Given the description of an element on the screen output the (x, y) to click on. 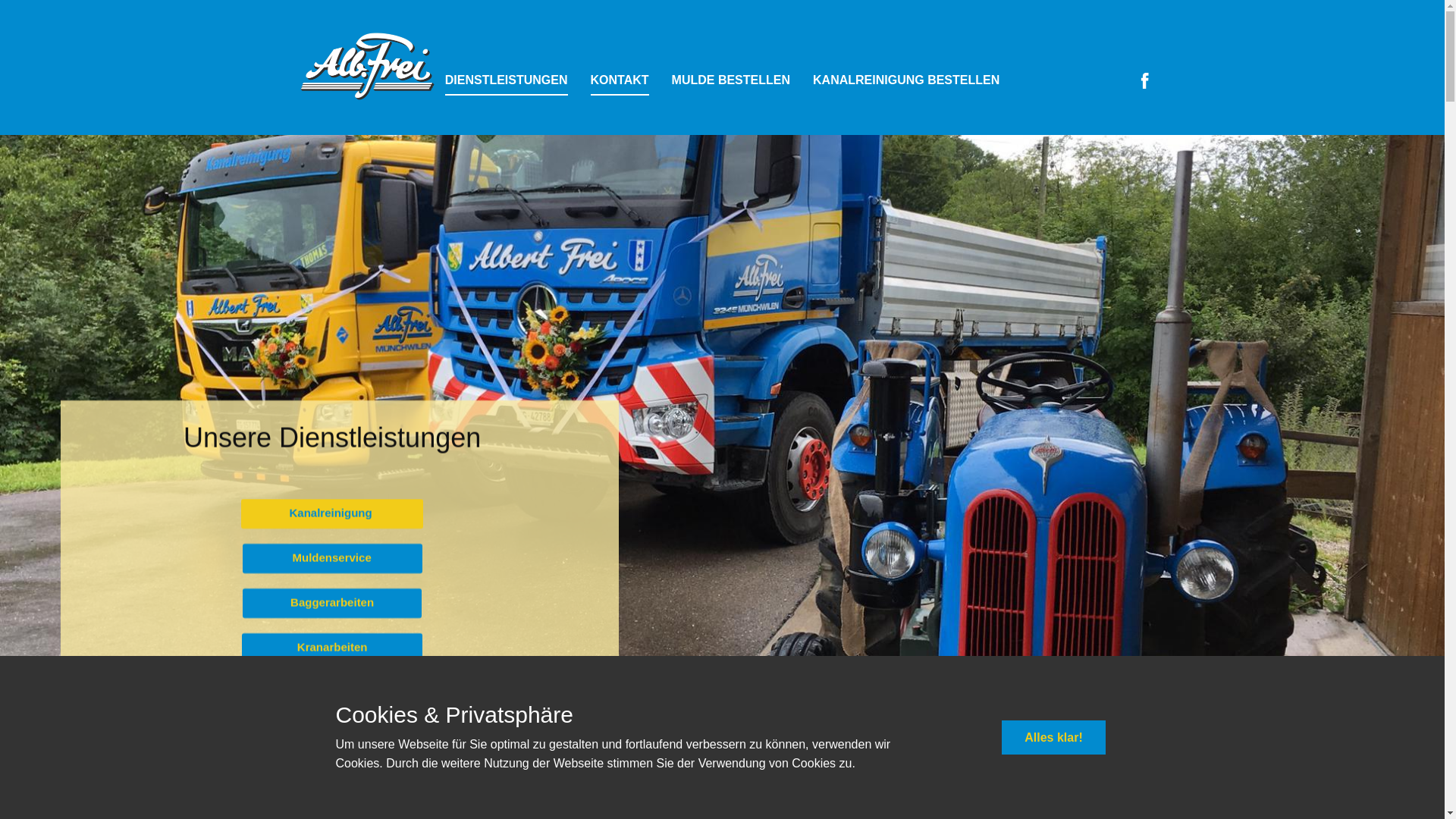
MULDE BESTELLEN Element type: text (730, 80)
DIENSTLEISTUNGEN Element type: text (506, 80)
Kranarbeiten Element type: text (332, 647)
Home Element type: hover (365, 63)
Recycling & Kies Element type: text (332, 736)
KONTAKT Element type: text (619, 80)
Alles klar! Element type: text (1052, 737)
Kanalreinigung  Element type: text (331, 512)
Baggerarbeiten Element type: text (331, 602)
Transporte & Maschinen Element type: text (332, 691)
Muldenservice Element type: text (332, 557)
KANALREINIGUNG BESTELLEN Element type: text (905, 80)
